Given the description of an element on the screen output the (x, y) to click on. 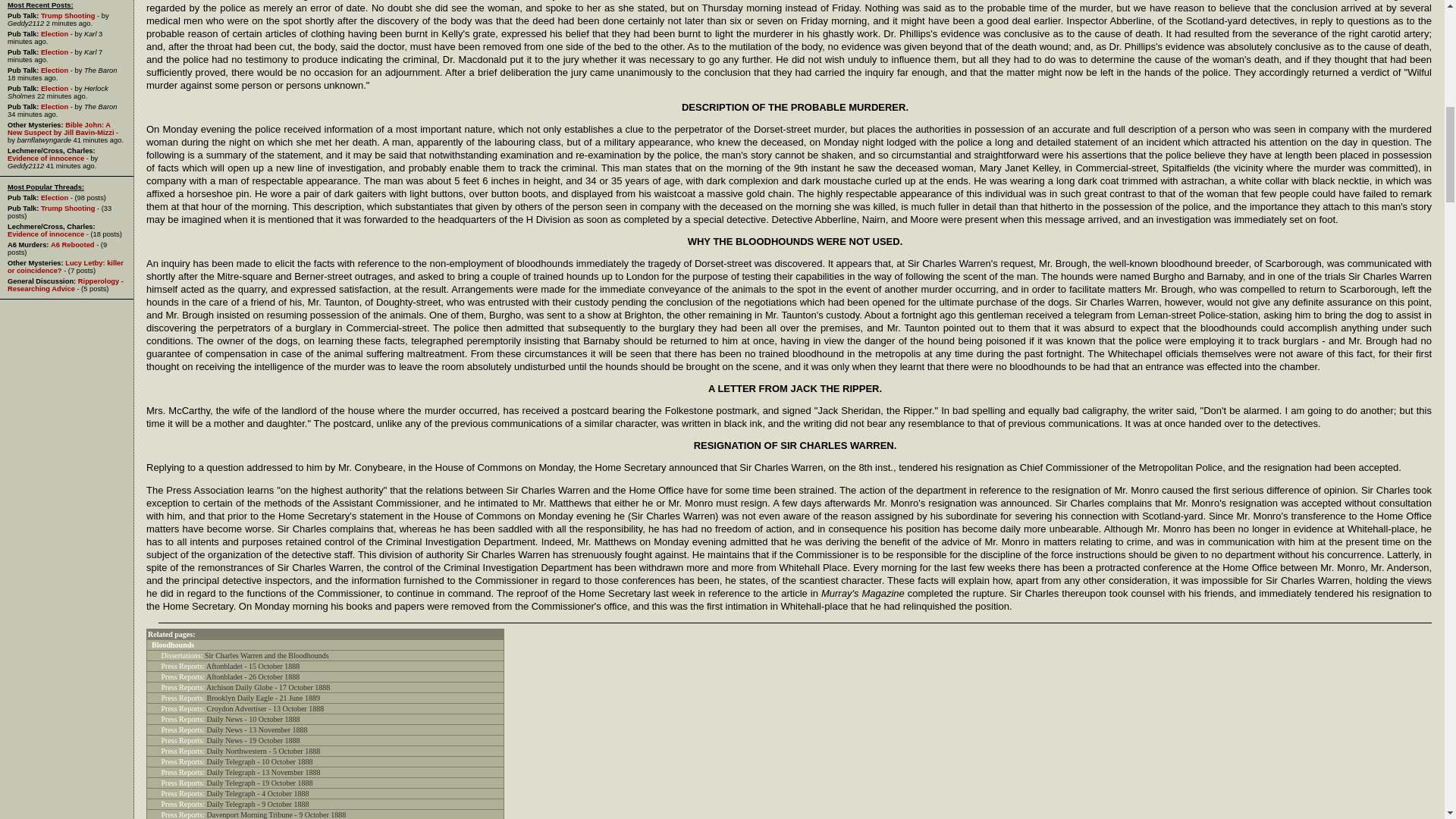
Election (54, 52)
Election (54, 197)
Election (54, 33)
Evidence of innocence (45, 234)
Election (54, 106)
Evidence of innocence (45, 158)
Bible John: A New Suspect by Jill Bavin-Mizzi (60, 128)
Trump Shooting (68, 15)
A6 Rebooted (72, 244)
Trump Shooting (68, 208)
Election (54, 70)
Lucy Letby: killer or coincidence? (65, 266)
Election (54, 88)
